Given the description of an element on the screen output the (x, y) to click on. 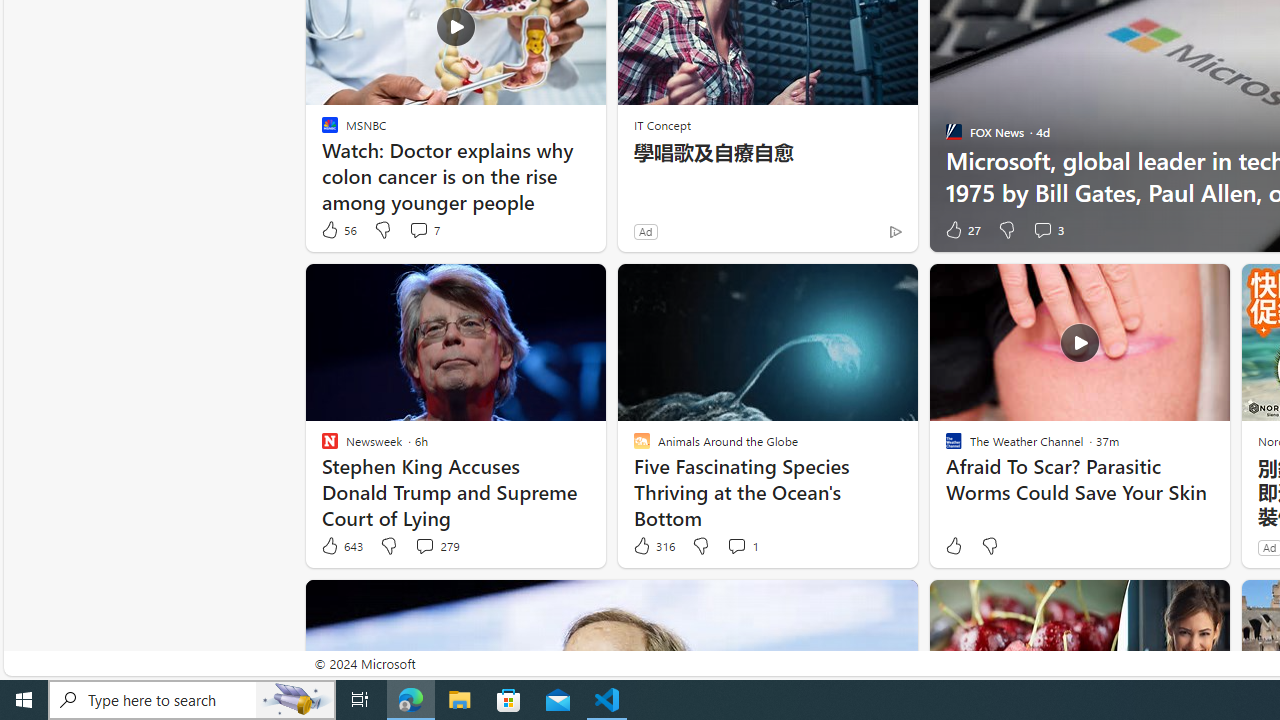
Hide this story (1169, 603)
316 Like (653, 546)
View comments 1 Comment (736, 545)
56 Like (337, 230)
View comments 7 Comment (423, 230)
View comments 279 Comment (436, 546)
View comments 1 Comment (742, 546)
IT Concept (662, 124)
View comments 3 Comment (1042, 229)
